Given the description of an element on the screen output the (x, y) to click on. 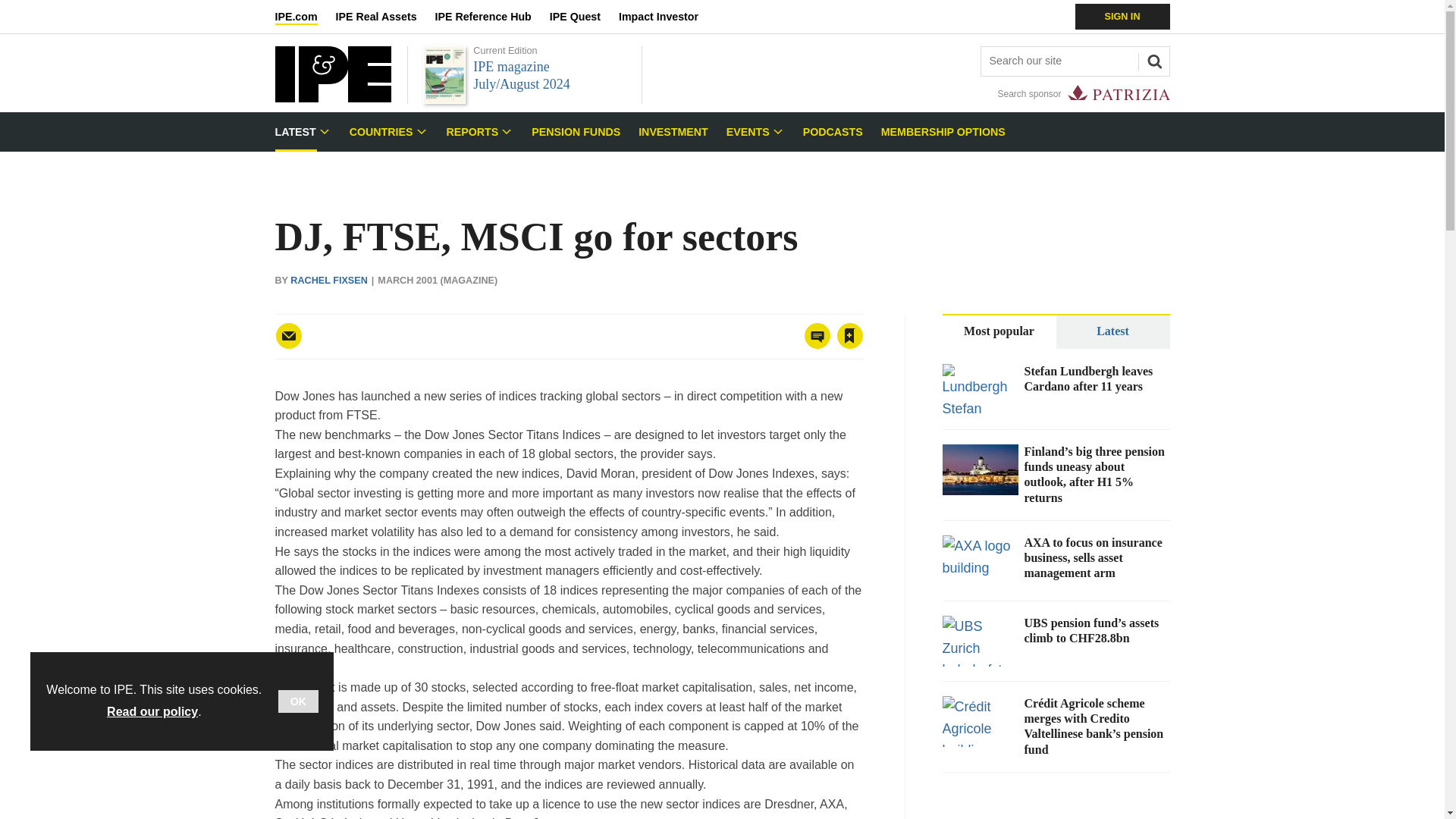
Email this article (288, 335)
Impact Investor (667, 16)
IPE Reference Hub (491, 16)
OK (298, 701)
IPE (332, 97)
Read our policy (152, 711)
SIGN IN (1122, 16)
IPE Quest (583, 16)
IPE Reference Hub (491, 16)
SEARCH (1152, 59)
